Given the description of an element on the screen output the (x, y) to click on. 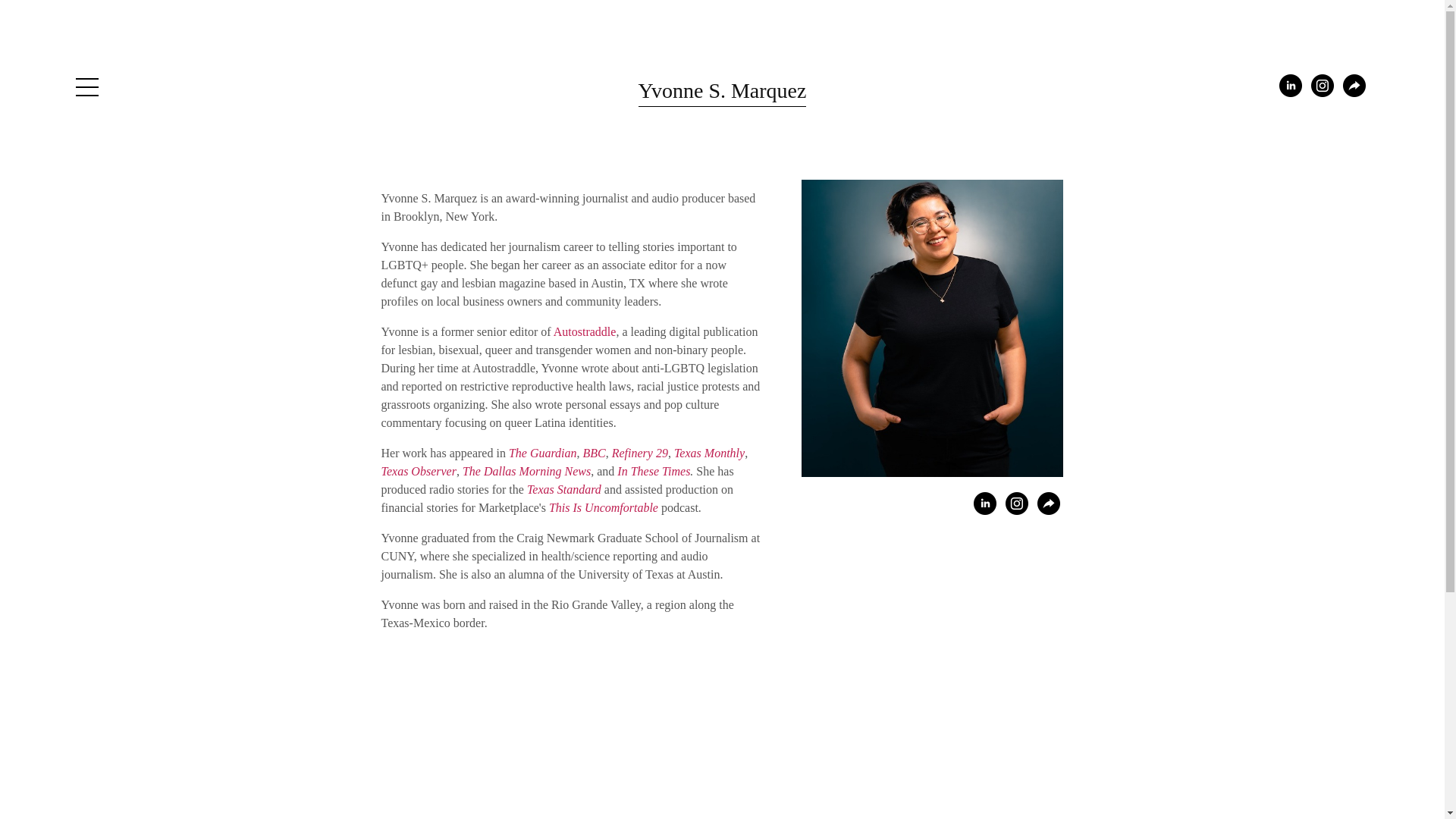
Texas Standard (564, 489)
Texas Monthly (709, 452)
Autostraddle (584, 331)
In These Times (653, 471)
Texas Observer (417, 471)
This Is Uncomfortable (603, 507)
The Dallas Morning News (527, 471)
The Guardian (542, 452)
BBC (594, 452)
Yvonne S. Marquez (722, 90)
Refinery 29 (639, 452)
